Given the description of an element on the screen output the (x, y) to click on. 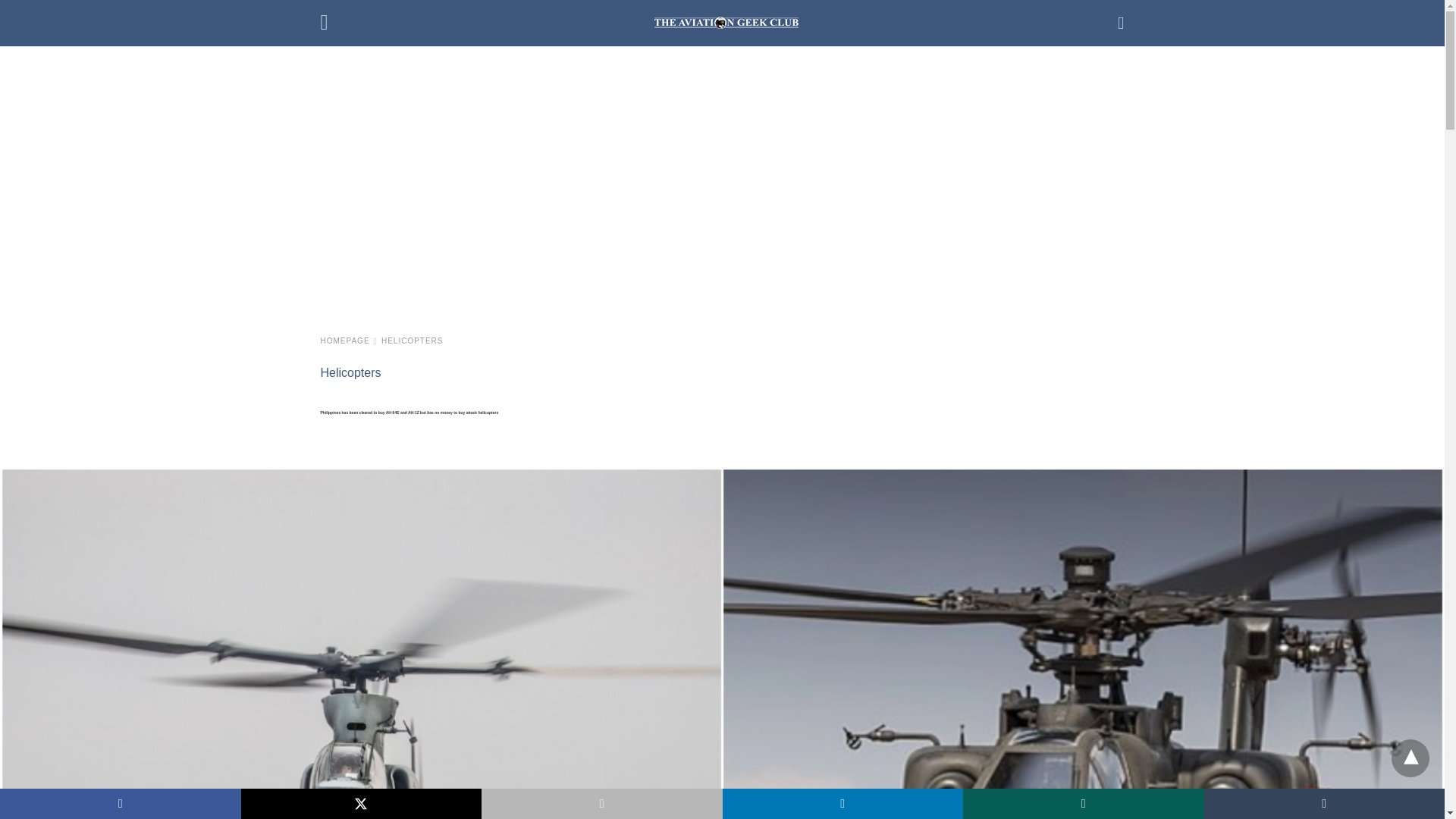
HELICOPTERS (412, 340)
Helicopters (350, 372)
Homepage (348, 340)
The Aviation Geek Club (725, 22)
Helicopters (350, 372)
search (1121, 22)
Helicopters (412, 340)
HOMEPAGE (348, 340)
